Given the description of an element on the screen output the (x, y) to click on. 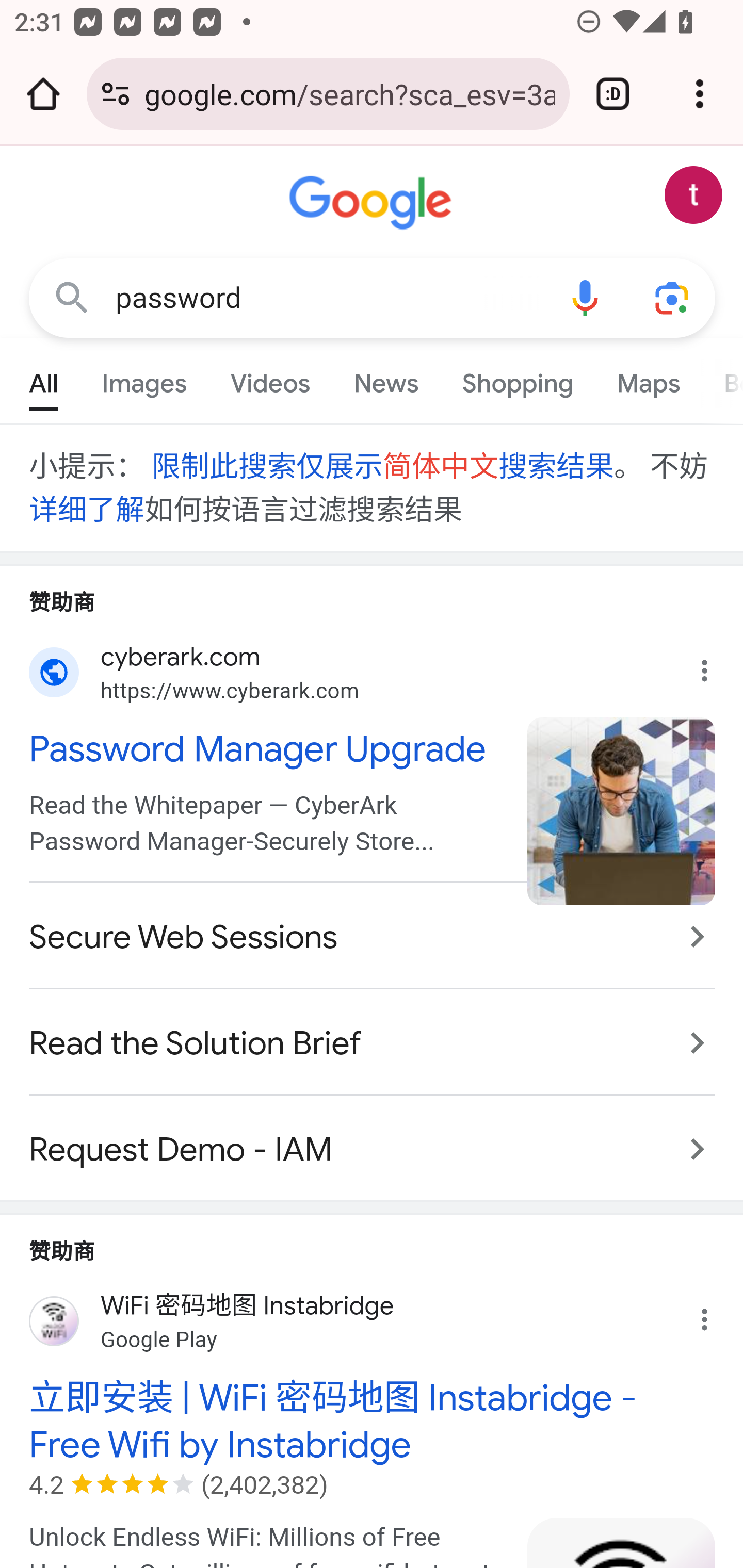
Open the home page (43, 93)
Connection is secure (115, 93)
Switch or close tabs (612, 93)
Customize and control Google Chrome (699, 93)
